Given the description of an element on the screen output the (x, y) to click on. 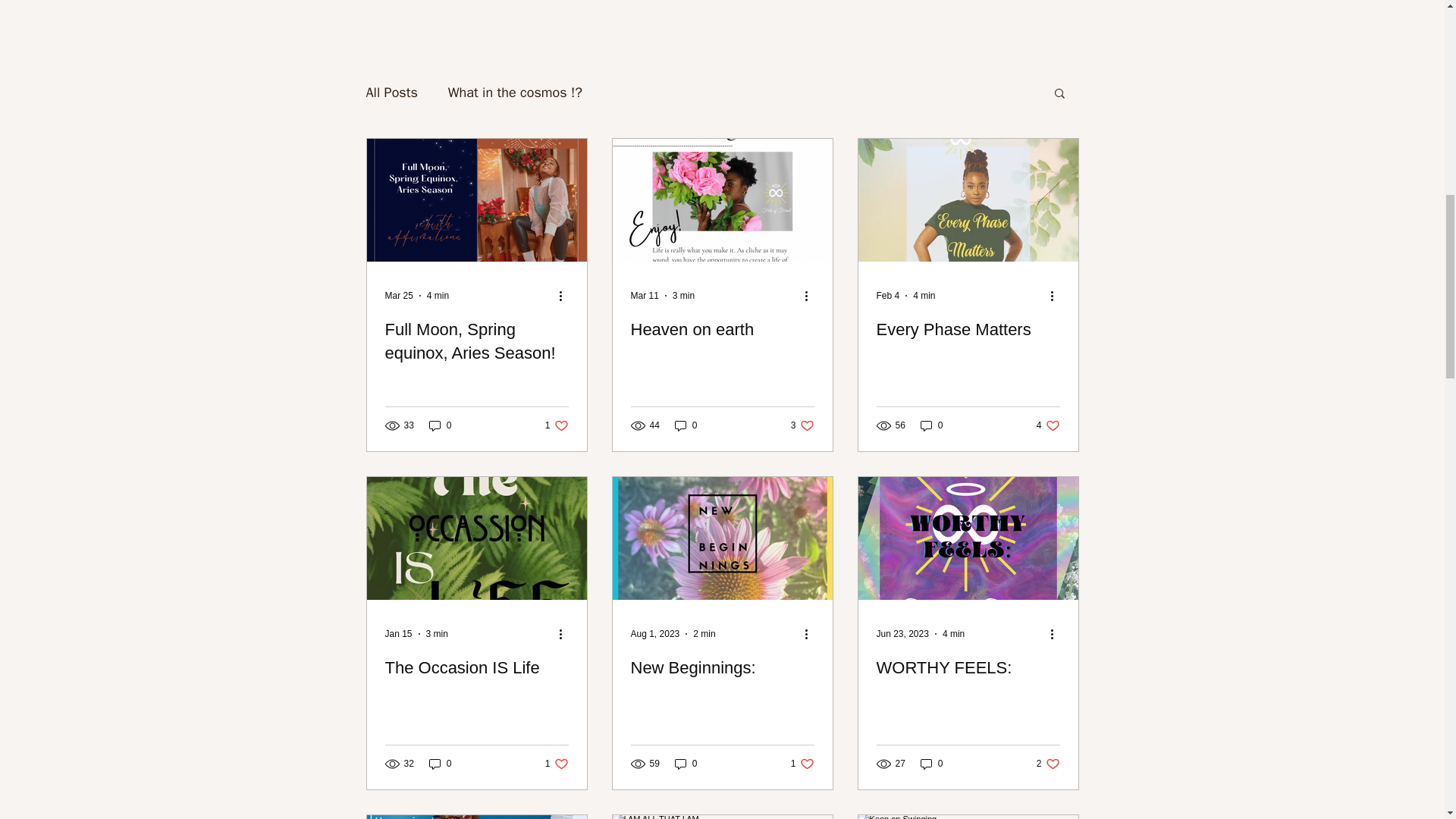
4 min (437, 295)
New Beginnings: (801, 425)
What in the cosmos !? (721, 668)
0 (515, 92)
The Occasion IS Life (440, 763)
2 min (477, 668)
0 (1047, 425)
0 (703, 633)
Heaven on earth (931, 763)
Full Moon, Spring equinox, Aries Season! (685, 425)
Jun 23, 2023 (801, 763)
